Given the description of an element on the screen output the (x, y) to click on. 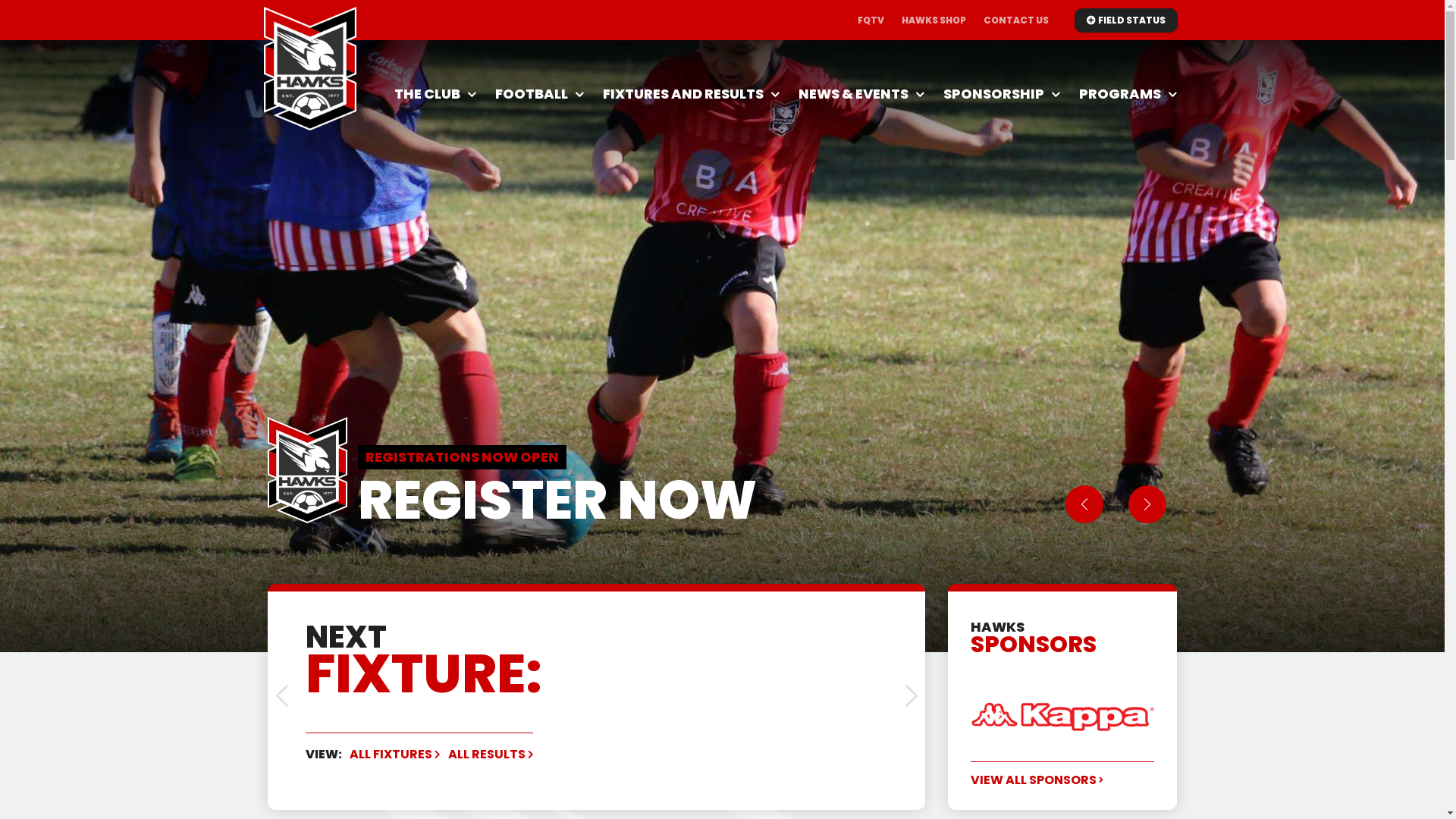
SPONSORSHIP Element type: text (1001, 93)
HAWKS SHOP Element type: text (932, 20)
ALL FIXTURES Element type: text (393, 754)
CONTACT US Element type: text (1015, 20)
FQTV Element type: text (869, 20)
Kappa Australia Logo Element type: hover (1062, 717)
FOOTBALL Element type: text (539, 93)
FIELD STATUS Element type: text (1124, 19)
THE CLUB Element type: text (435, 93)
NEWS & EVENTS Element type: text (861, 93)
ALL RESULTS Element type: text (490, 754)
REGISTER NOW Element type: text (556, 499)
VIEW ALL SPONSORS Element type: text (1036, 780)
PROGRAMS Element type: text (1127, 93)
FIXTURES AND RESULTS Element type: text (690, 93)
